Given the description of an element on the screen output the (x, y) to click on. 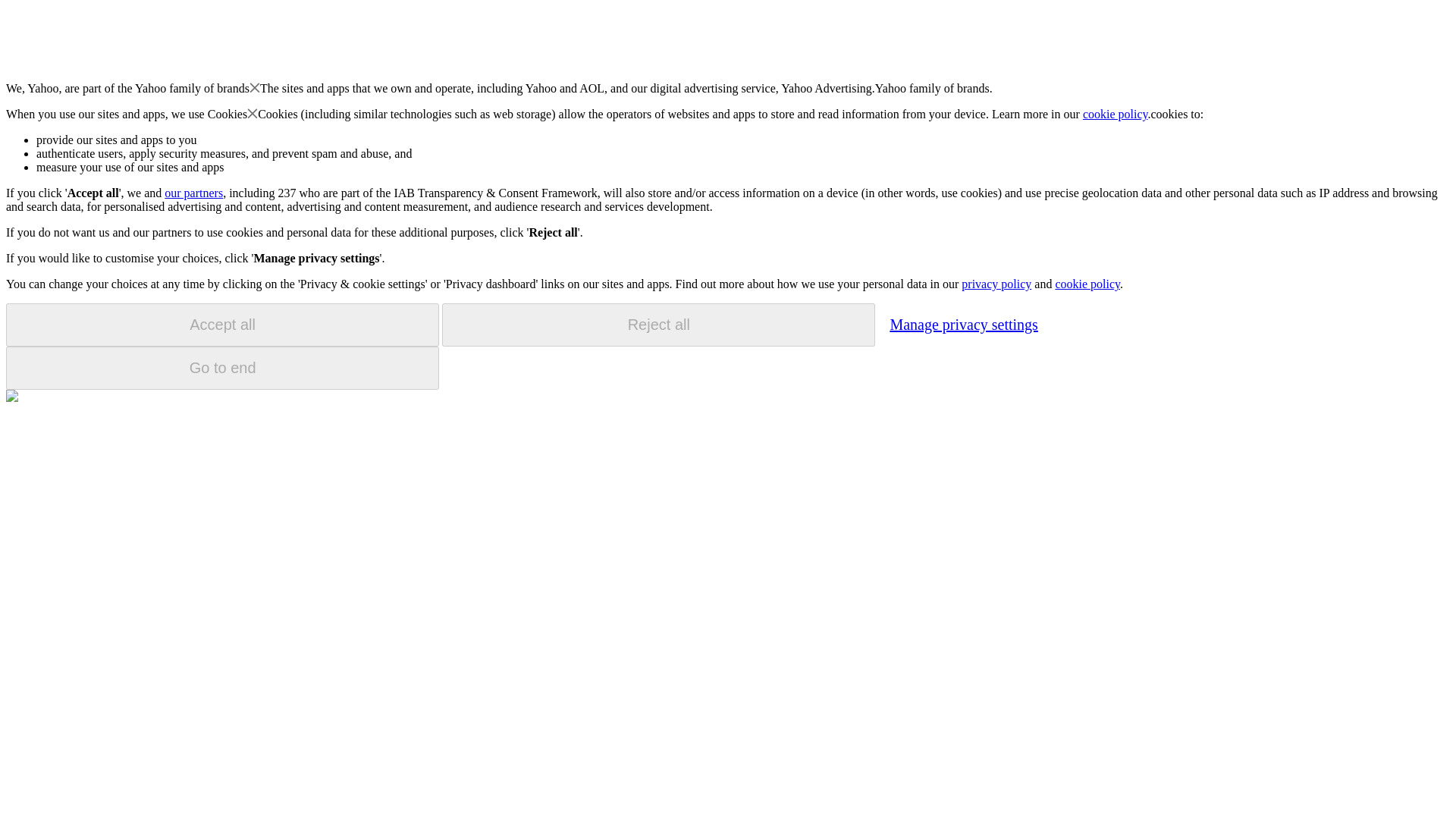
Accept all (222, 324)
Manage privacy settings (963, 323)
Reject all (658, 324)
Go to end (222, 367)
cookie policy (1086, 283)
our partners (193, 192)
cookie policy (1115, 113)
privacy policy (995, 283)
